Given the description of an element on the screen output the (x, y) to click on. 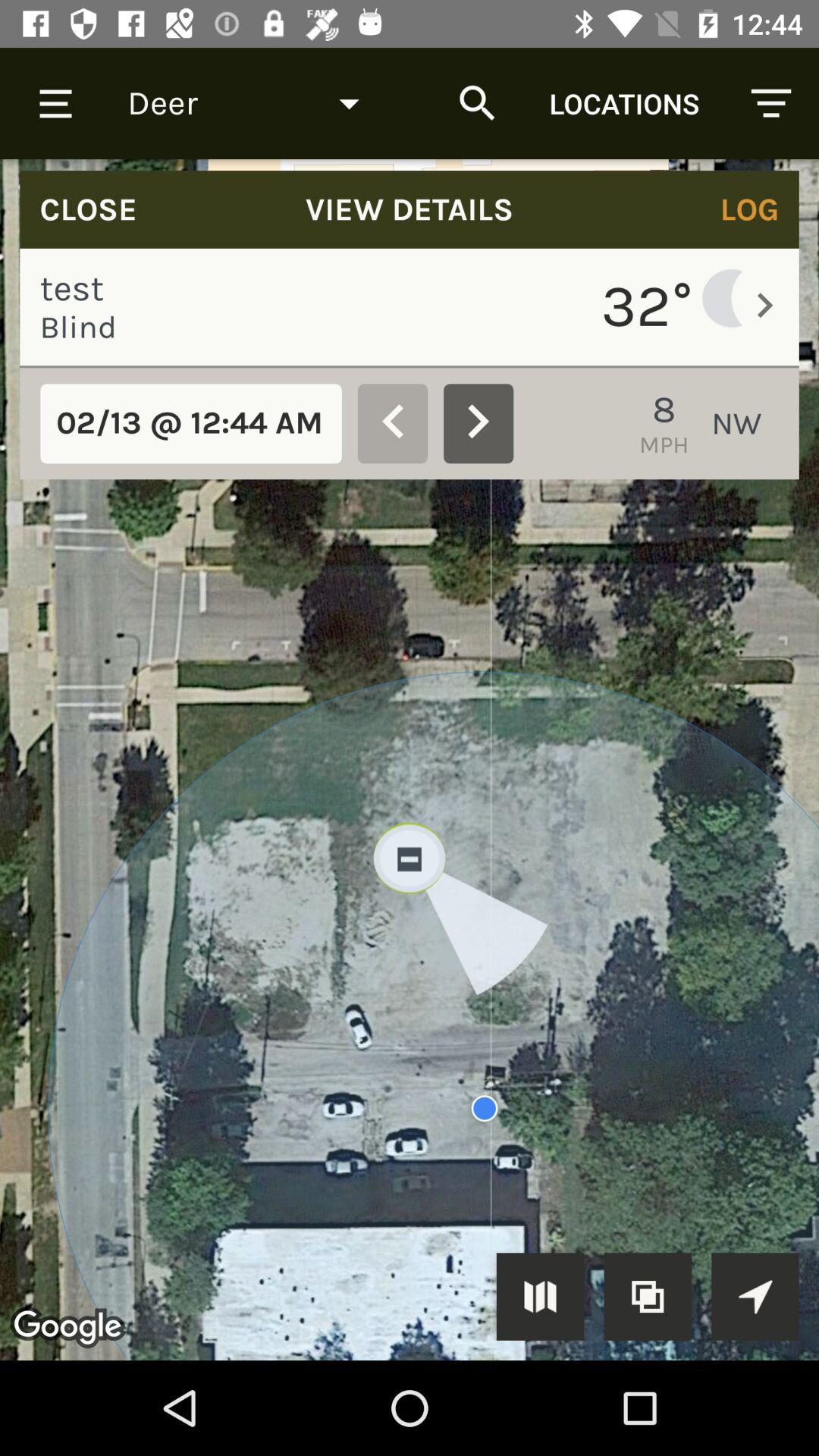
go to arrow (755, 1296)
